Given the description of an element on the screen output the (x, y) to click on. 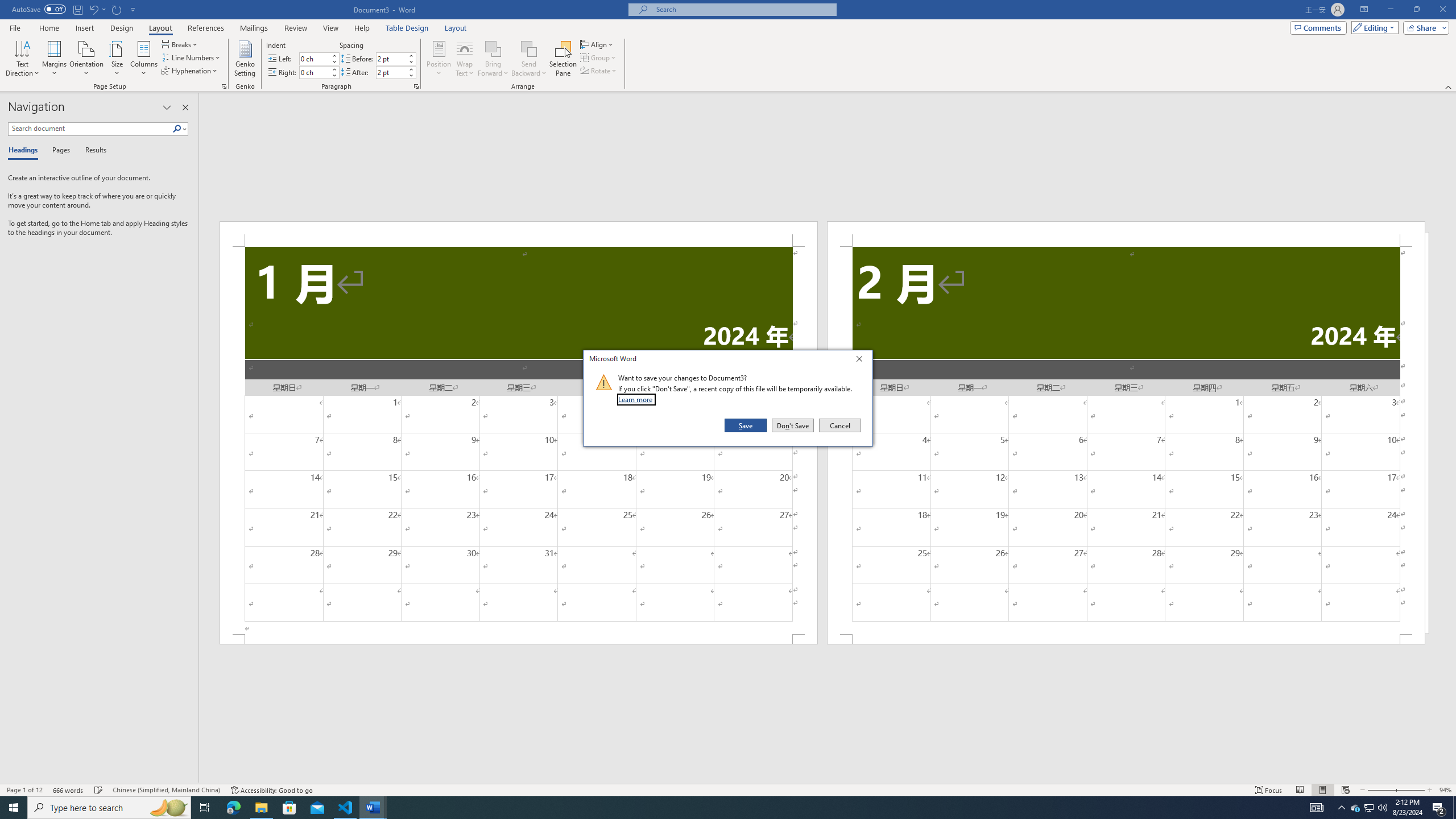
Paragraph... (416, 85)
Bring Forward (492, 48)
Indent Right (314, 72)
Language Chinese (Simplified, Mainland China) (165, 790)
Headings (25, 150)
Footer -Section 2- (1126, 638)
Spacing Before (391, 58)
More (411, 69)
